Given the description of an element on the screen output the (x, y) to click on. 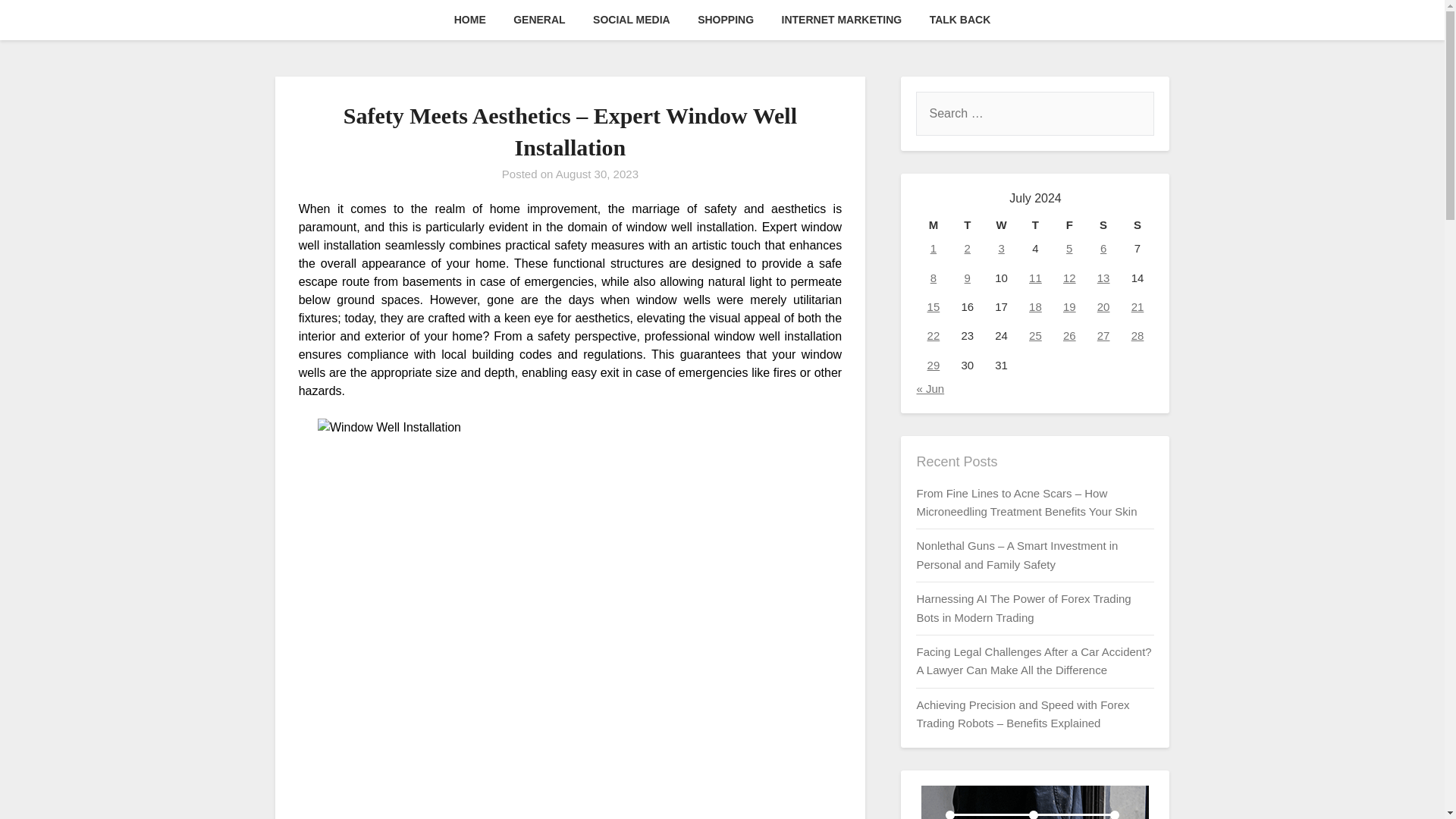
Search (37, 22)
August 30, 2023 (597, 173)
Wednesday (1000, 225)
22 (933, 335)
13 (1103, 277)
Monday (932, 225)
TALK BACK (960, 20)
12 (1068, 277)
SOCIAL MEDIA (631, 20)
HOME (469, 20)
28 (1137, 335)
25 (1035, 335)
SHOPPING (725, 20)
26 (1068, 335)
